Given the description of an element on the screen output the (x, y) to click on. 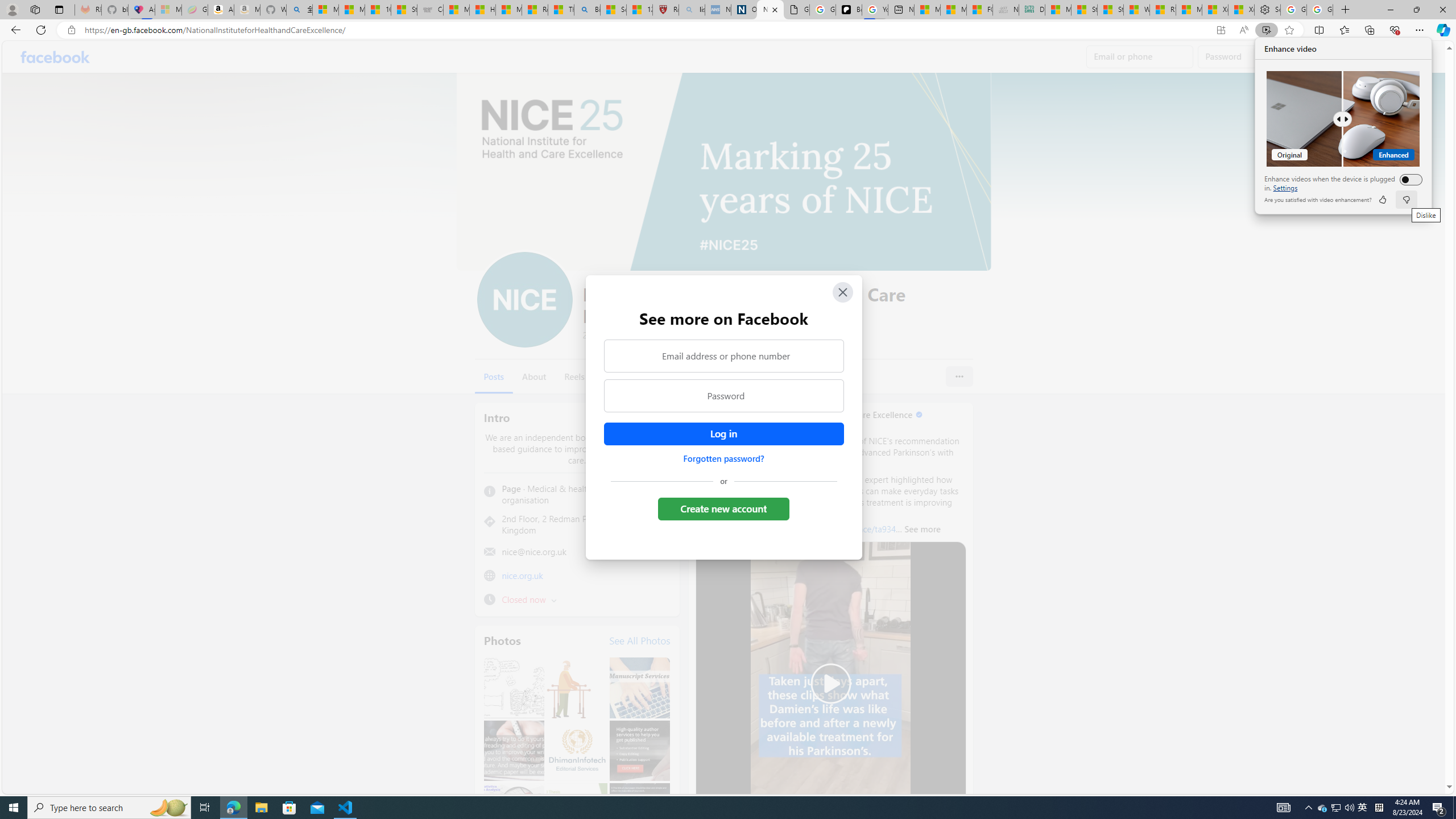
App available. Install Facebook (1220, 29)
Email or phone (1139, 56)
Create new account (724, 508)
dislike (1405, 199)
